Given the description of an element on the screen output the (x, y) to click on. 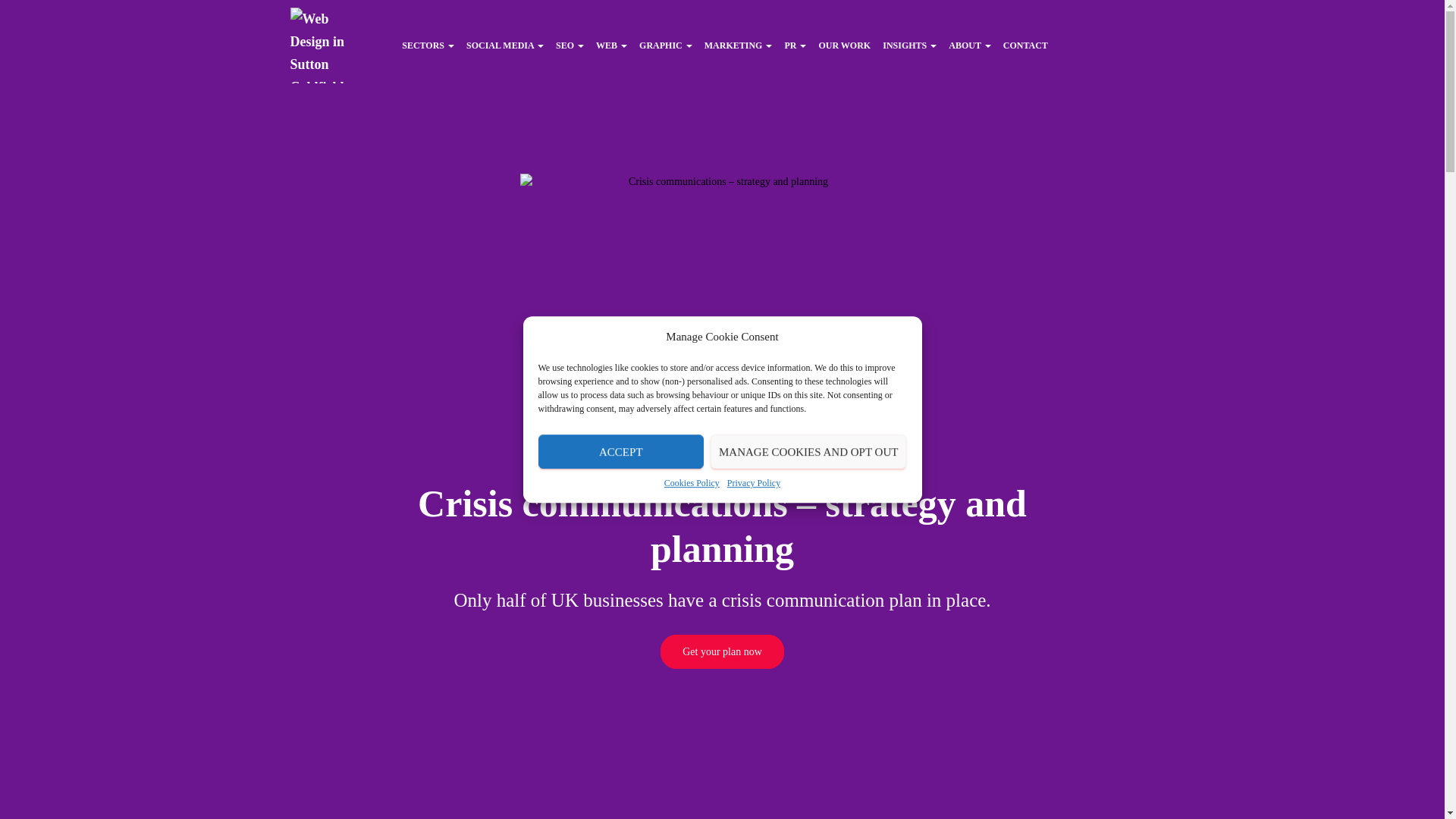
INSIGHTS (909, 44)
Cookies Policy (691, 582)
Social Media (505, 44)
SECTORS (428, 44)
SEO (569, 44)
SOCIAL MEDIA (505, 44)
Web Design in Sutton Coldfield, Birmingham (326, 45)
GRAPHIC (665, 44)
ACCEPT (620, 680)
SEO (569, 44)
Graphic (665, 44)
Sectors (428, 44)
MARKETING (738, 44)
Web (611, 44)
WEB (611, 44)
